Given the description of an element on the screen output the (x, y) to click on. 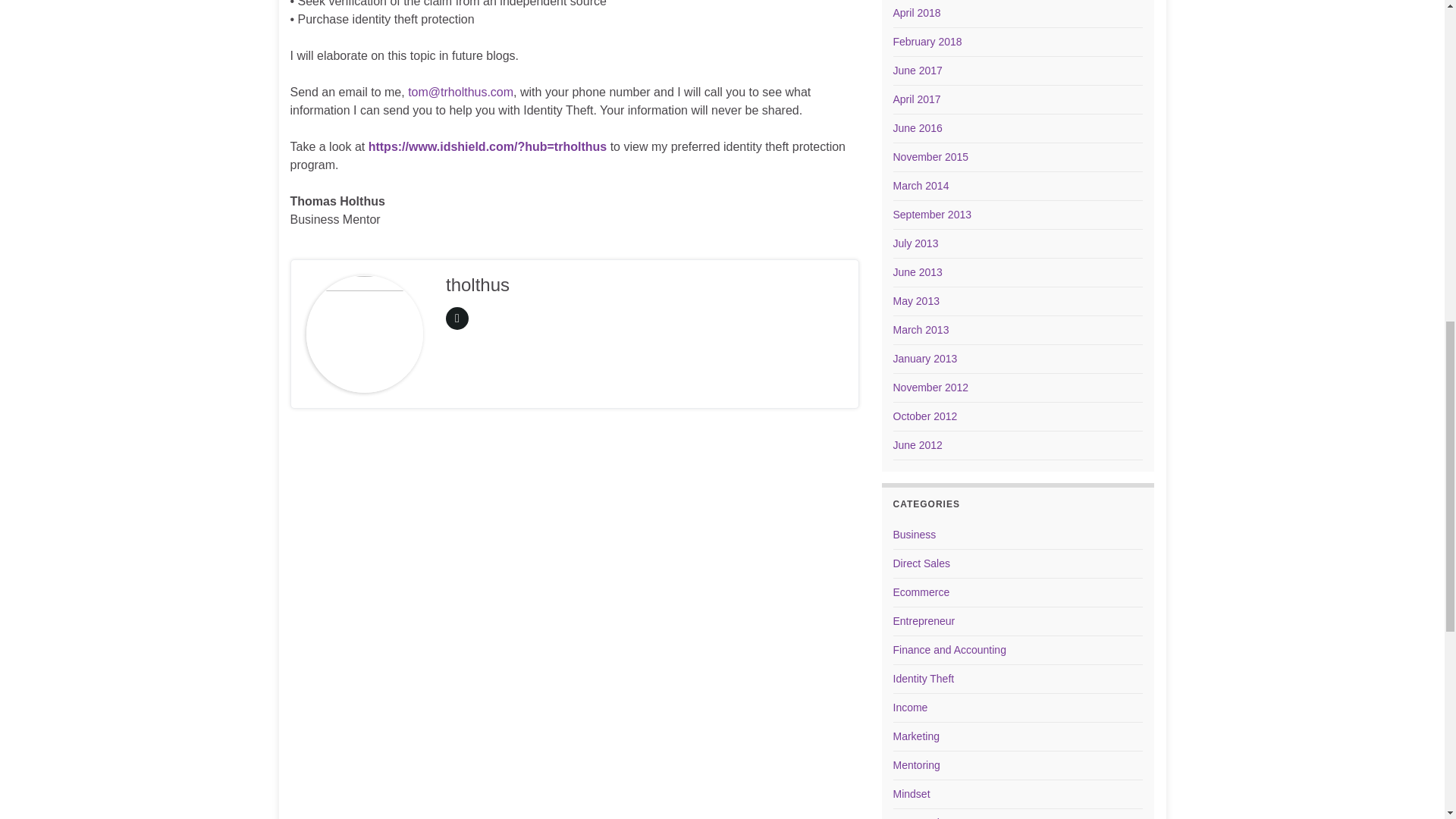
June 2016 (917, 128)
June 2017 (917, 70)
November 2015 (931, 156)
April 2017 (916, 99)
February 2018 (927, 41)
April 2018 (916, 12)
March 2014 (921, 185)
